Given the description of an element on the screen output the (x, y) to click on. 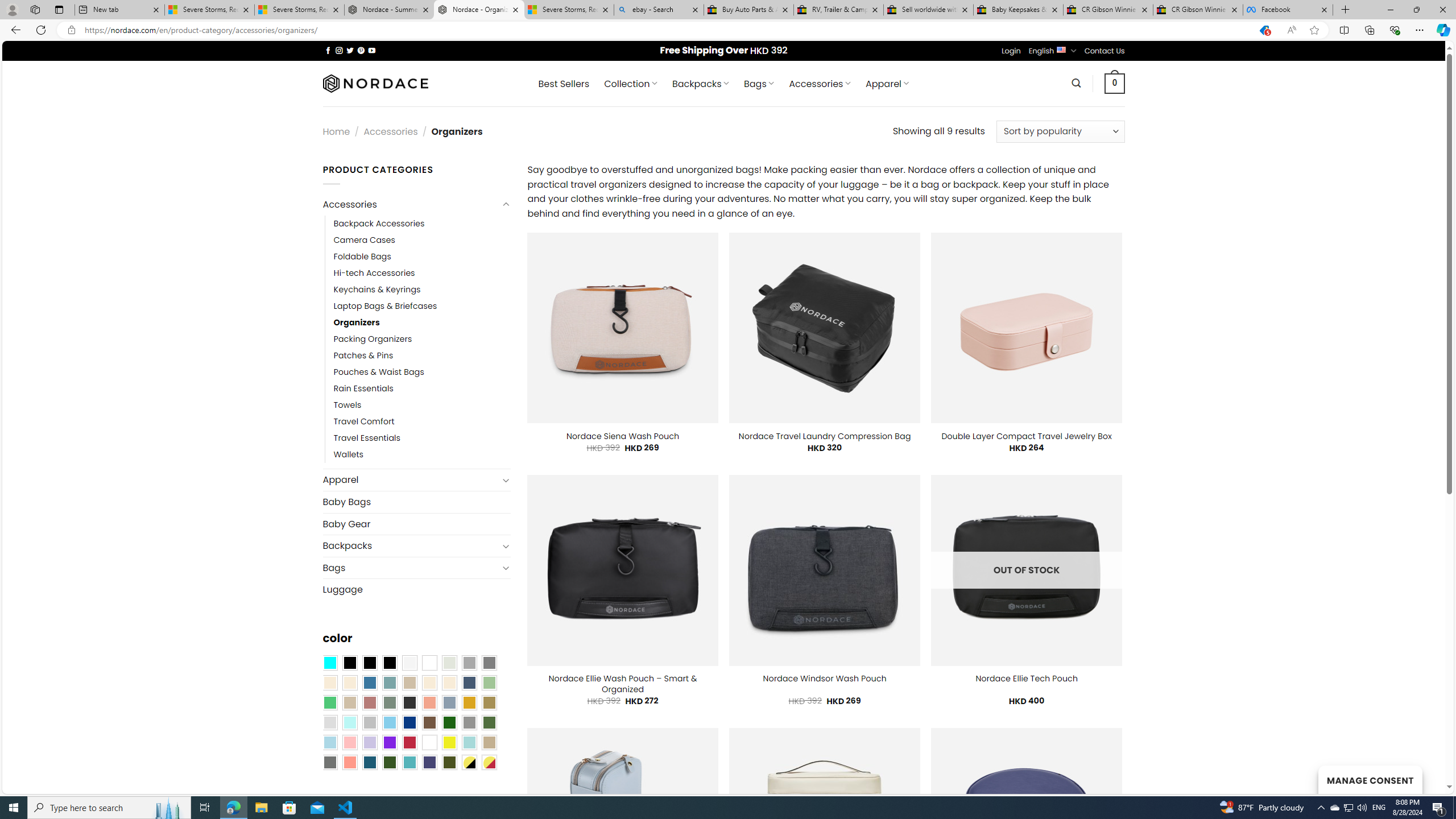
Backpacks (410, 545)
Brownie (408, 681)
  Best Sellers (563, 83)
Beige-Brown (349, 681)
Cream (449, 681)
Apparel (410, 479)
All Black (349, 662)
Close (1442, 9)
Patches & Pins (422, 355)
Nordace Windsor Wash Pouch (824, 678)
Follow on Facebook (327, 49)
Address and search bar (664, 29)
Double Layer Compact Travel Jewelry Box (1026, 436)
